Given the description of an element on the screen output the (x, y) to click on. 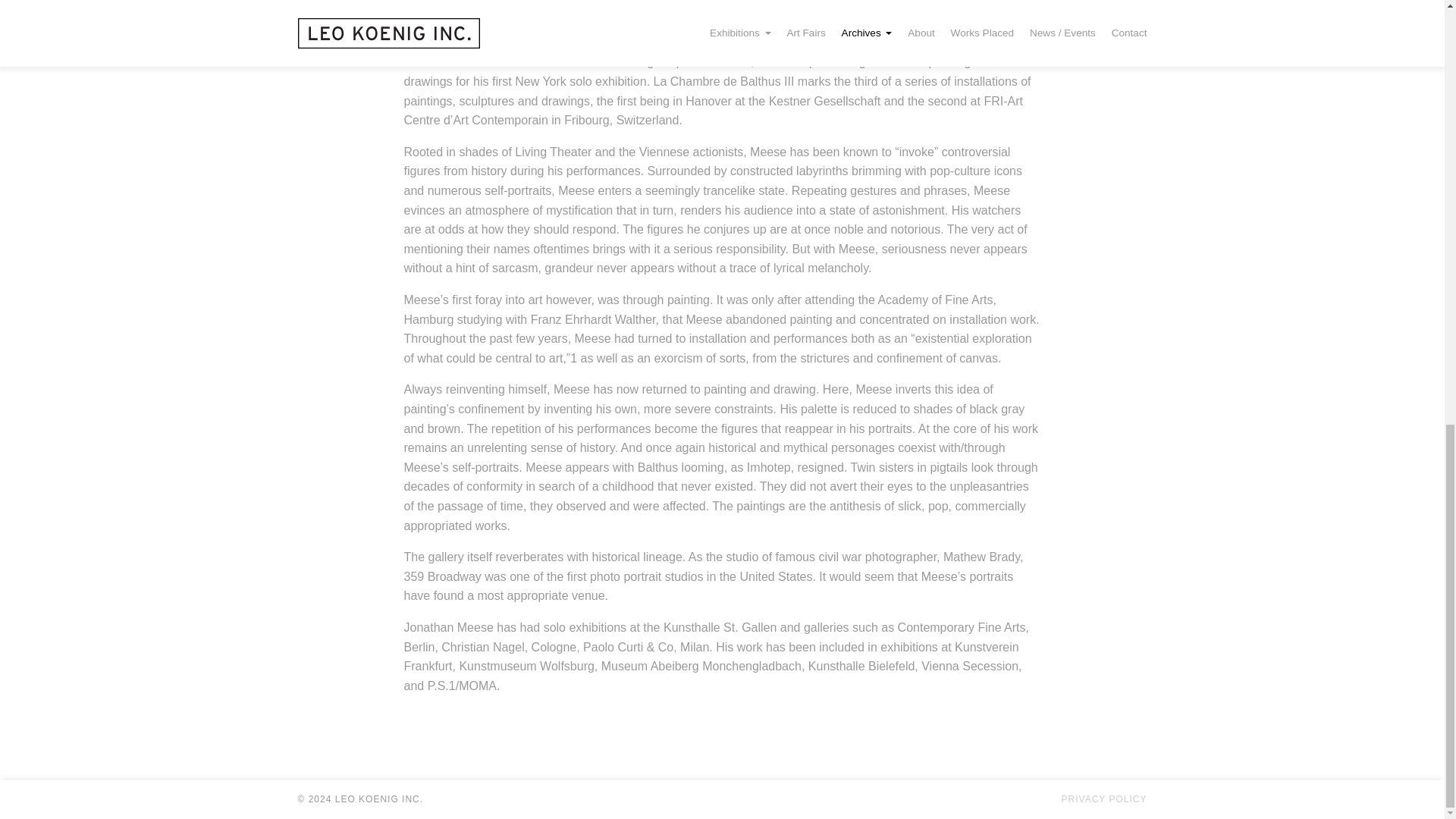
Download PDF (1000, 7)
PRIVACY POLICY (1104, 799)
